Given the description of an element on the screen output the (x, y) to click on. 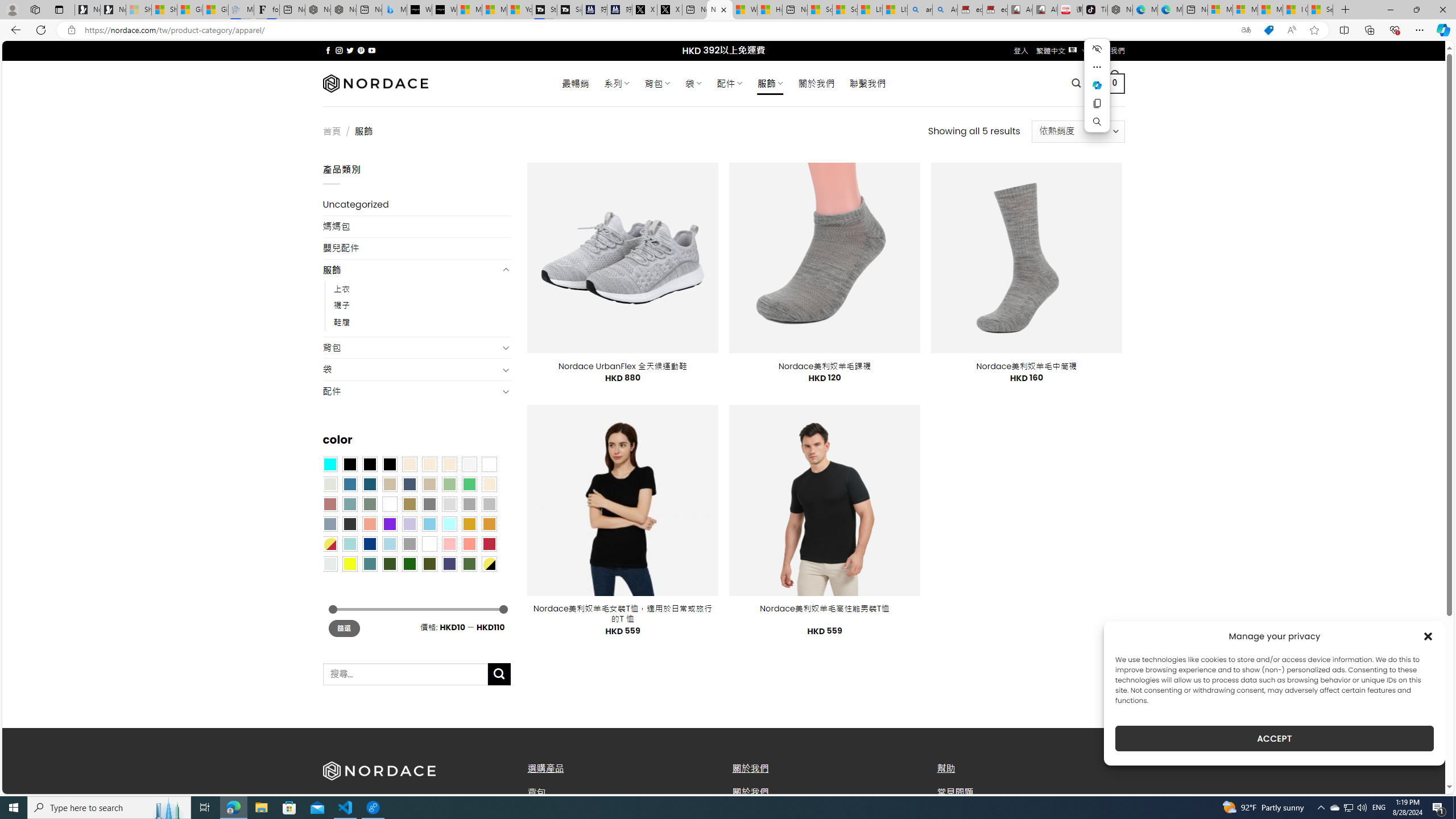
Copy (1096, 103)
 0  (1115, 83)
Gilma and Hector both pose tropical trouble for Hawaii (215, 9)
Show translate options (1245, 29)
Uncategorized (416, 204)
